Given the description of an element on the screen output the (x, y) to click on. 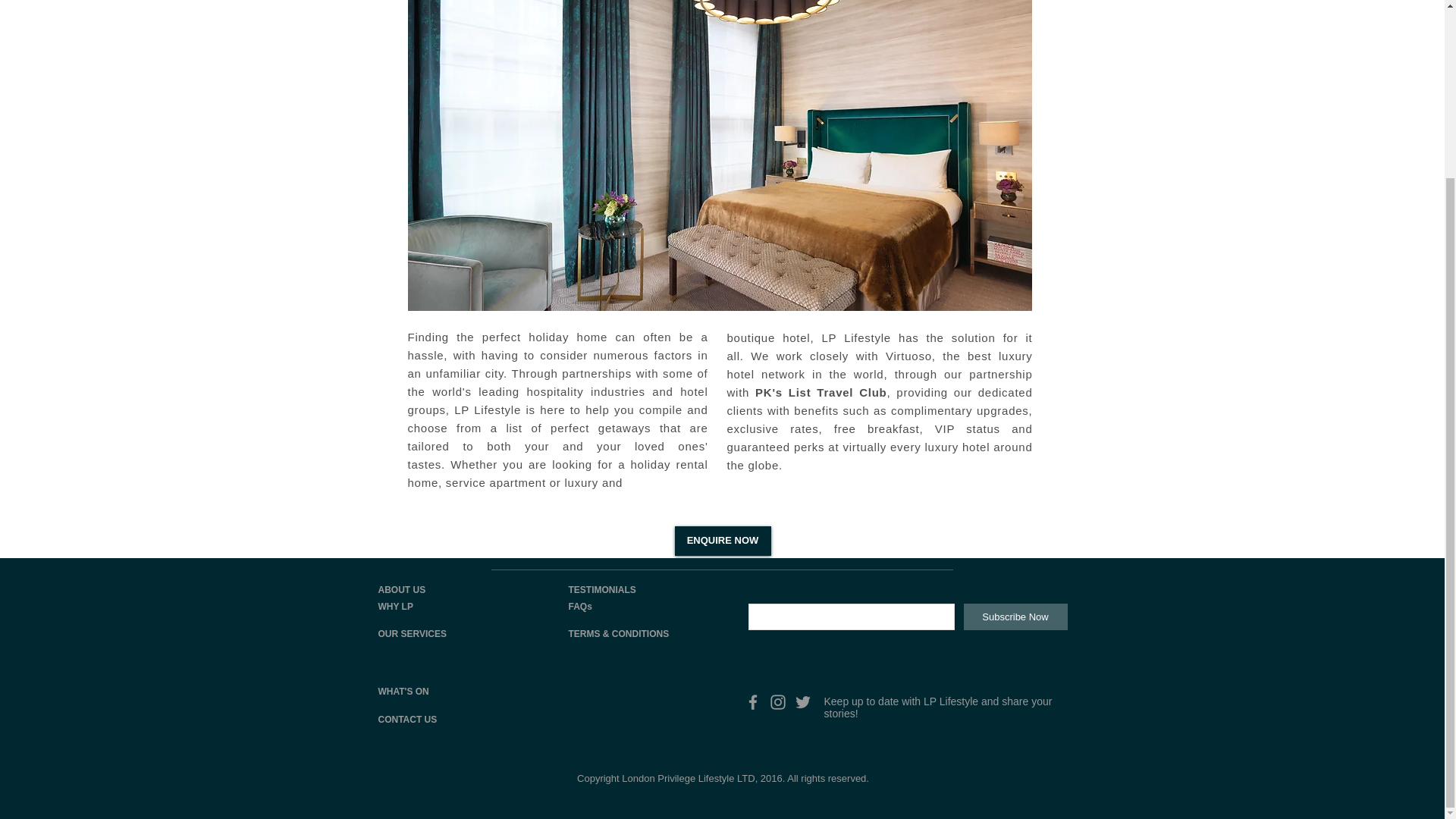
ABOUT US (401, 589)
OUR SERVICES (411, 633)
CONTACT US (406, 719)
WHAT'S ON (402, 691)
PK's List Travel Club (820, 391)
TESTIMONIALS (602, 589)
ENQUIRE NOW (723, 541)
Subscribe Now (1014, 616)
WHY LP (394, 606)
